Given the description of an element on the screen output the (x, y) to click on. 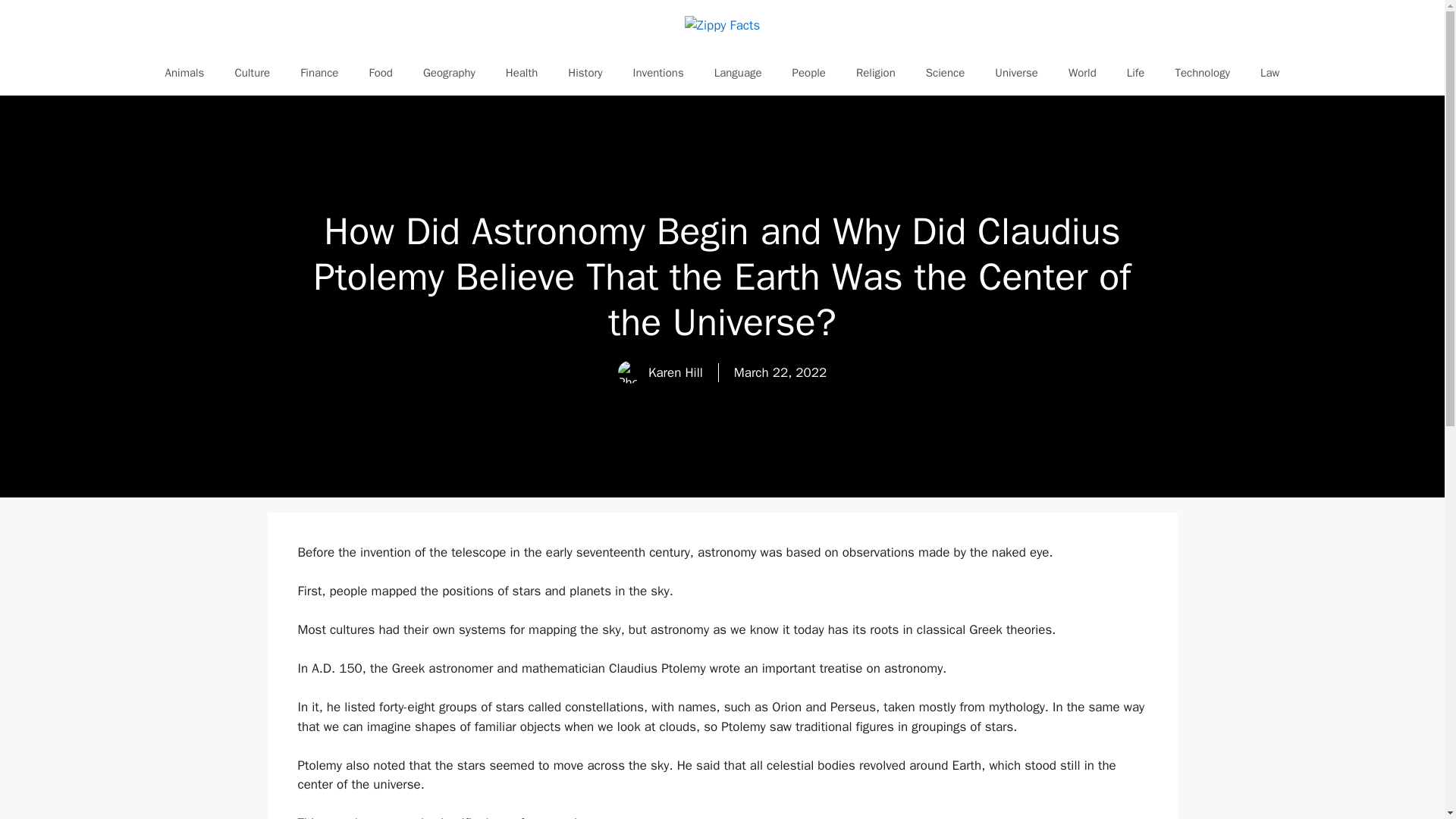
World (1082, 72)
People (809, 72)
Finance (319, 72)
Universe (1015, 72)
Animals (184, 72)
Life (1136, 72)
Culture (252, 72)
History (585, 72)
Law (1269, 72)
Geography (448, 72)
